Given the description of an element on the screen output the (x, y) to click on. 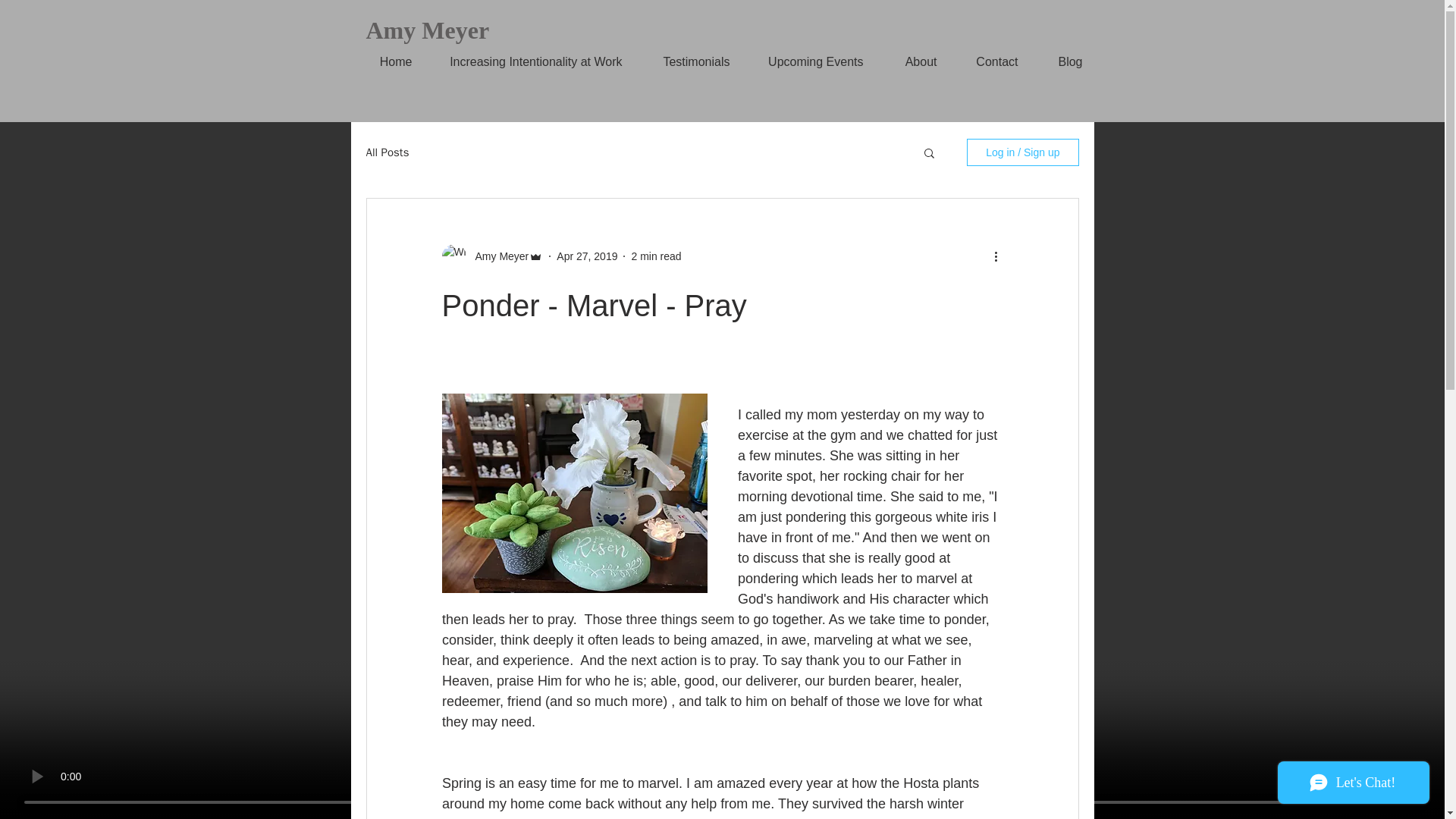
Home (386, 61)
About (912, 61)
Testimonials (687, 61)
Blog (1061, 61)
Amy Meyer (427, 30)
Increasing Intentionality at Work (528, 61)
Upcoming Events (808, 61)
Amy Meyer (496, 256)
All Posts (387, 152)
2 min read (655, 256)
Apr 27, 2019 (586, 256)
Contact (988, 61)
